Given the description of an element on the screen output the (x, y) to click on. 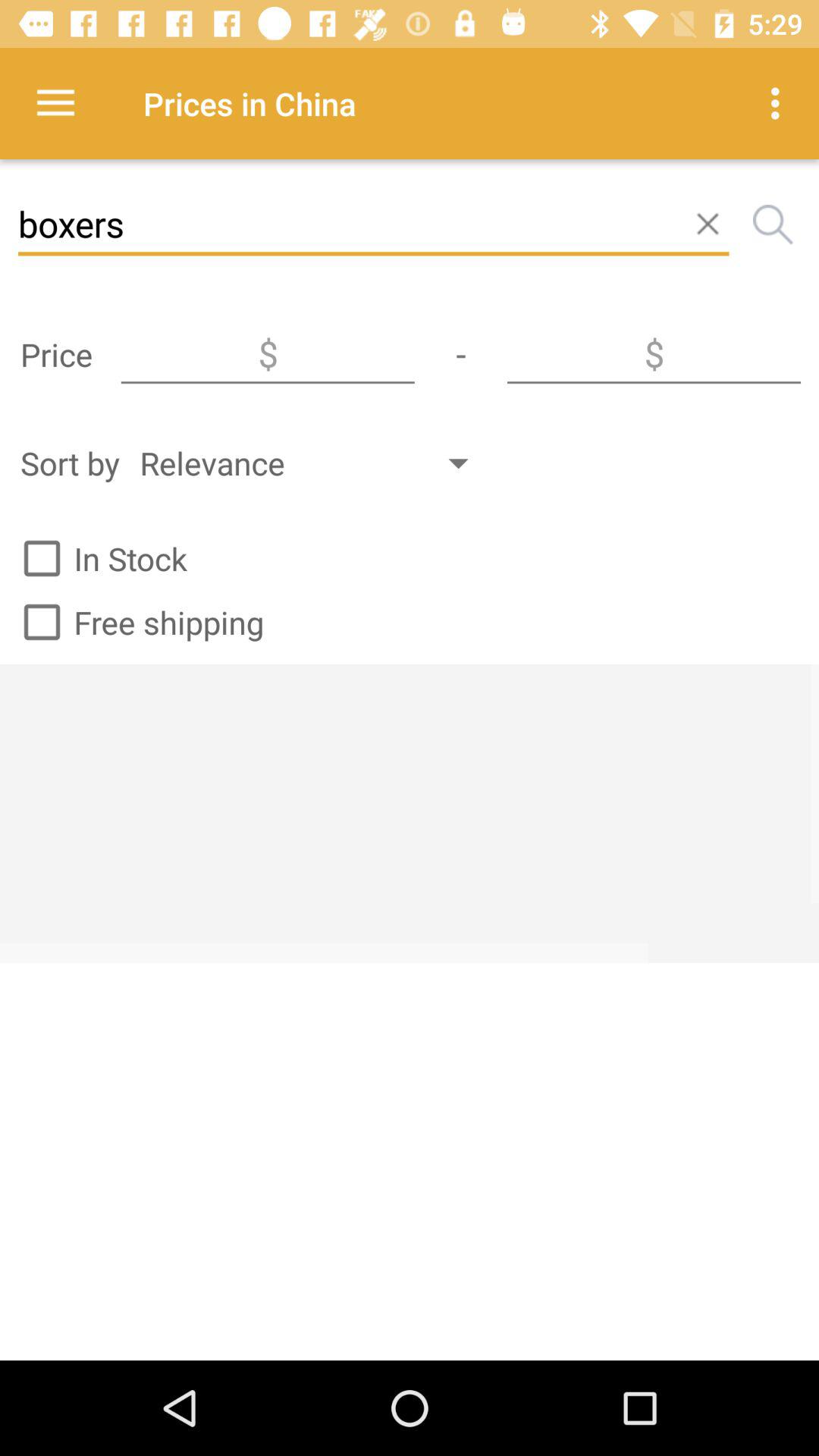
enter max price (653, 354)
